Given the description of an element on the screen output the (x, y) to click on. 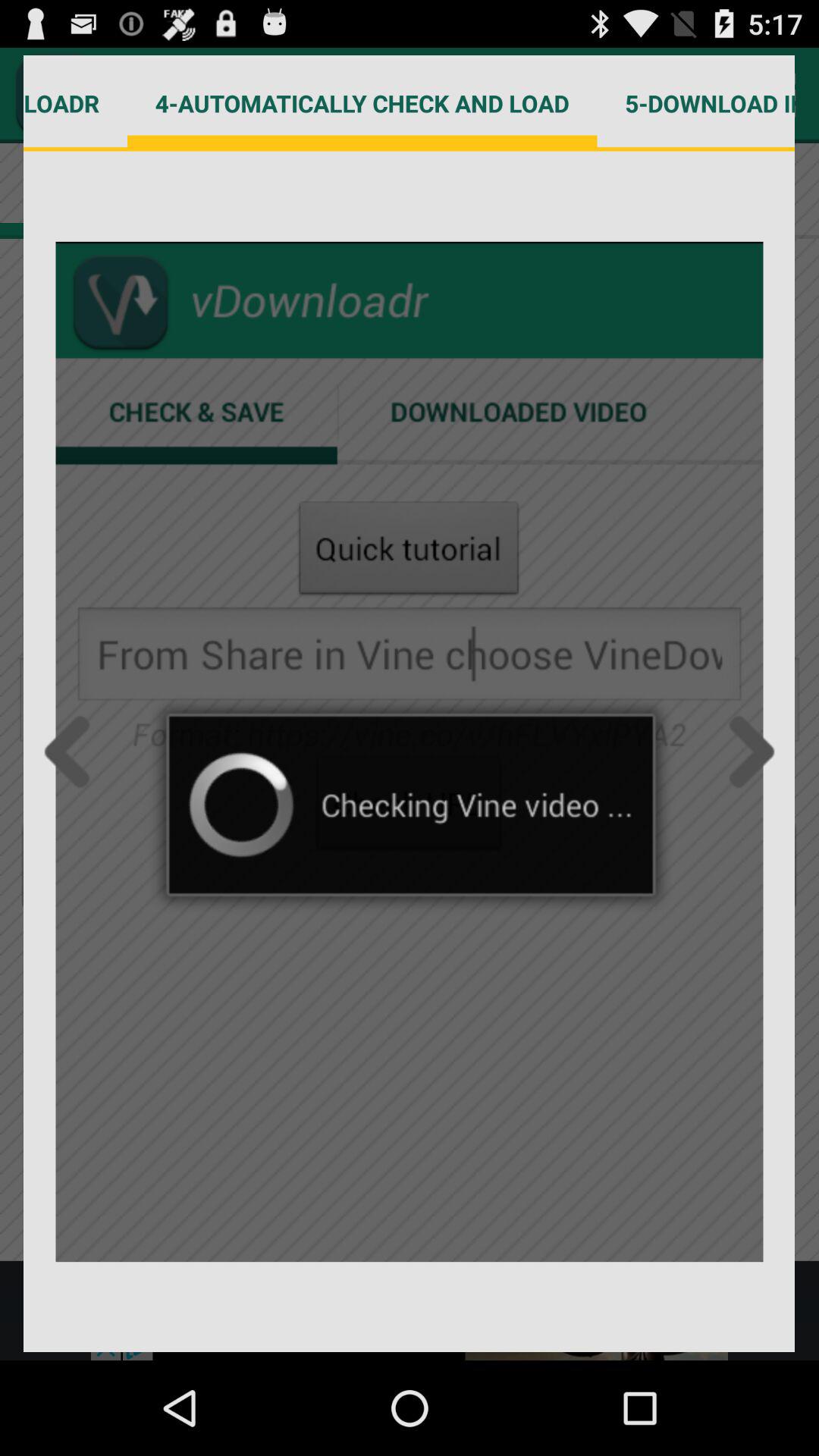
move forward inside a gallery (747, 751)
